Given the description of an element on the screen output the (x, y) to click on. 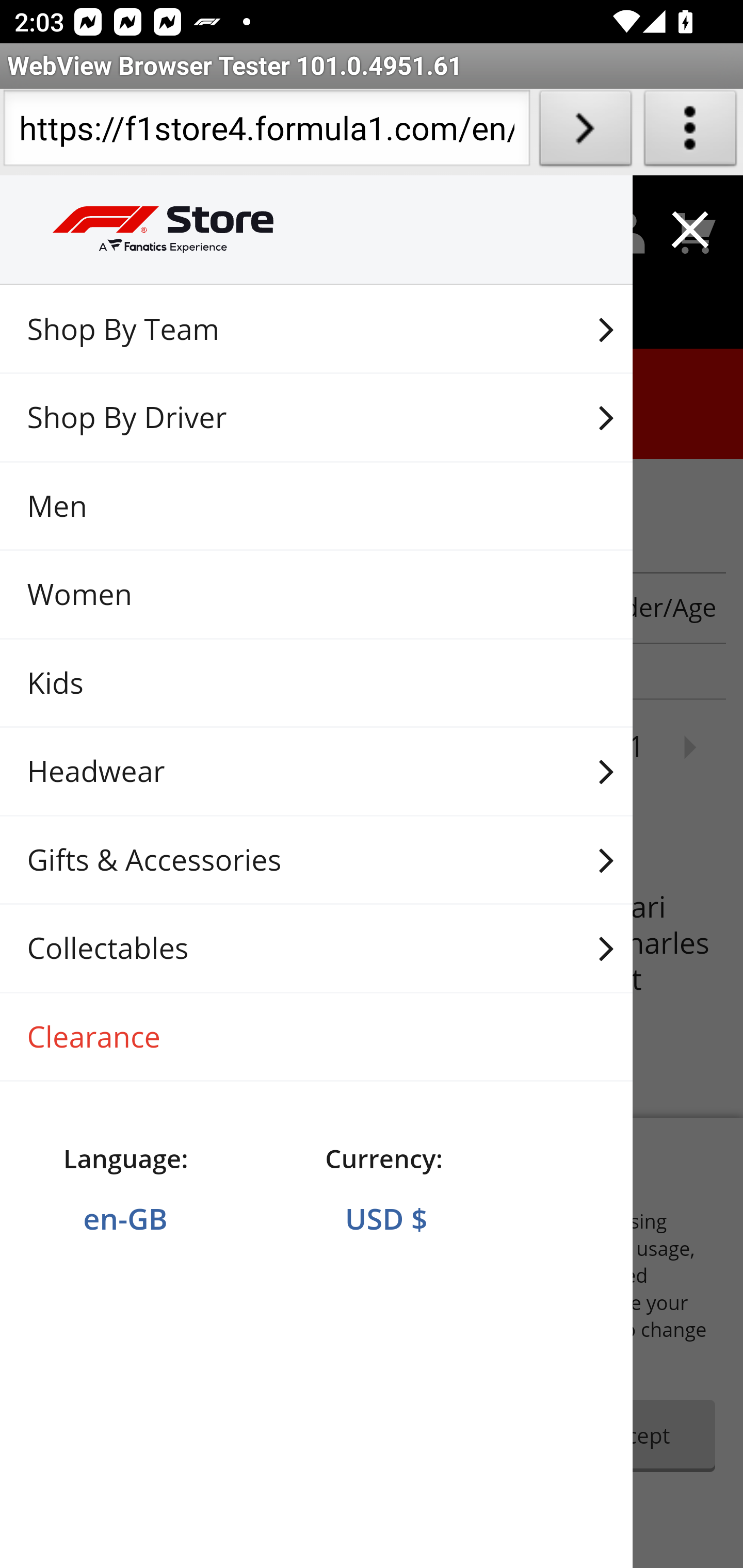
Load URL (585, 132)
About WebView (690, 132)
SIGN UP & SAVE 10% (371, 320)
NEW IN 2024 TEAMWEAR - SHOP NOW (371, 411)
TEAMWEAR (371, 506)
Product Filters (132, 607)
